Given the description of an element on the screen output the (x, y) to click on. 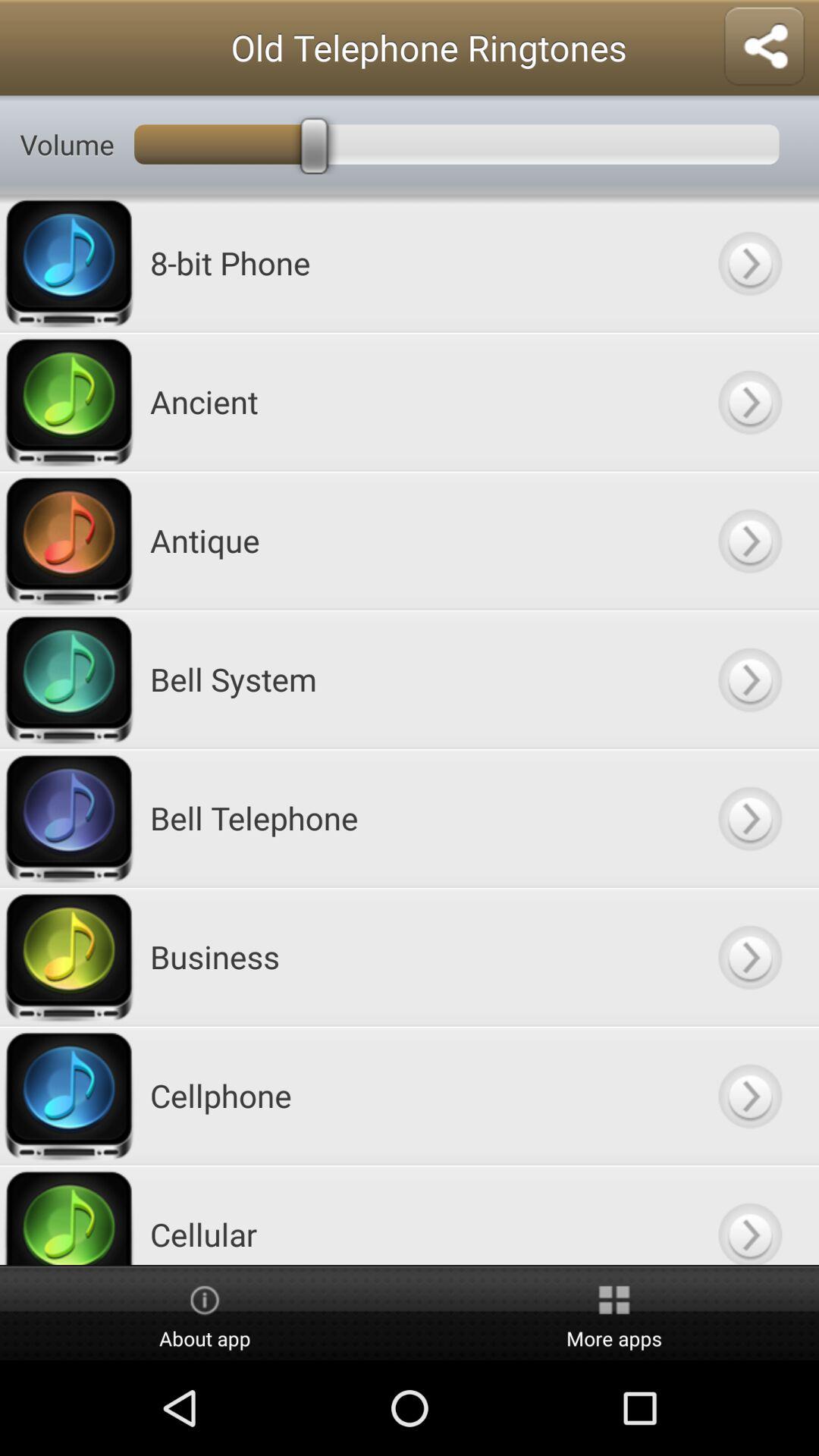
button to select 8-bit phone (749, 262)
